Given the description of an element on the screen output the (x, y) to click on. 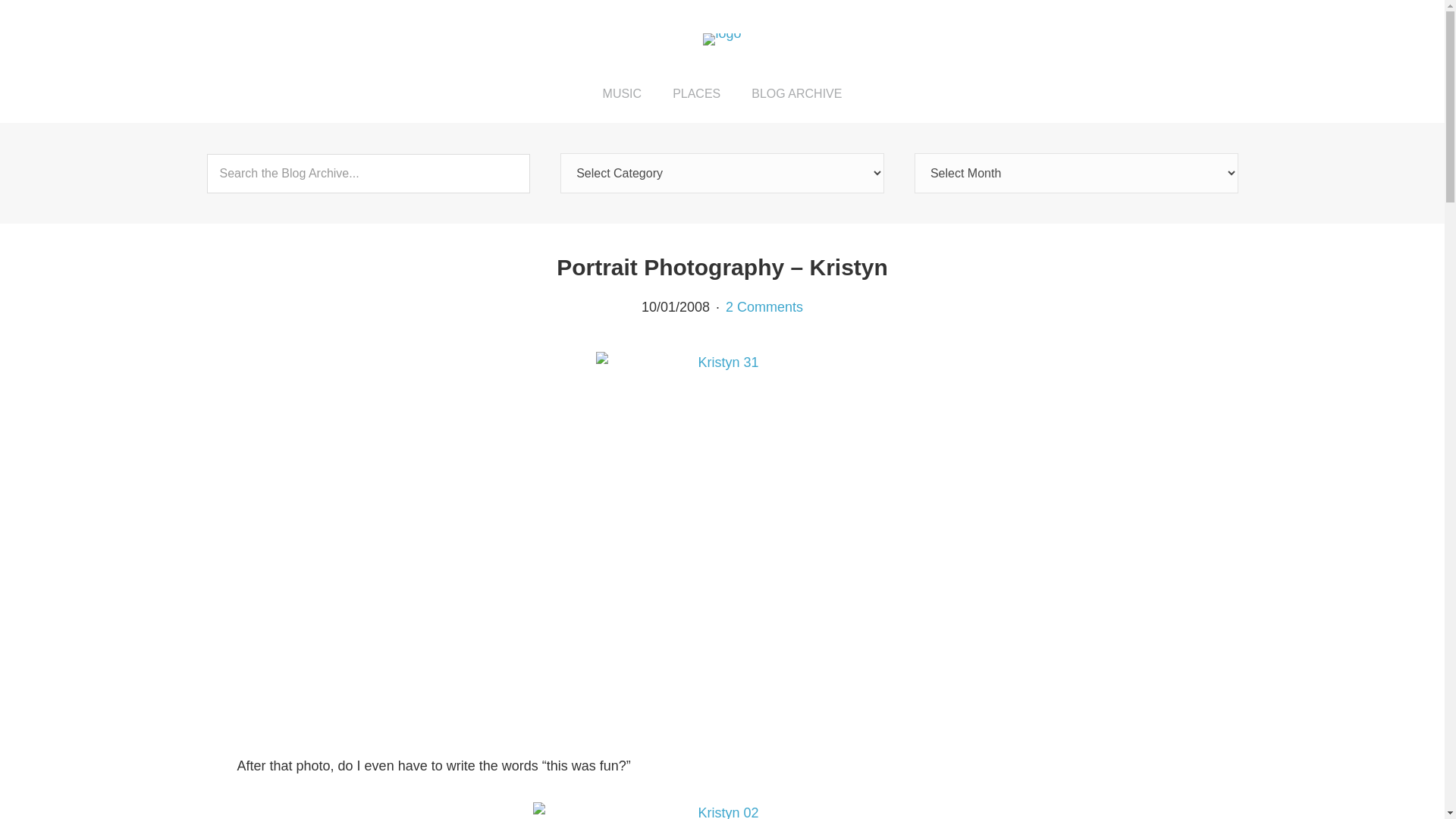
MUSIC (623, 93)
Kristyn 31 by kudoskid0511, on Flickr (721, 362)
BLOG ARCHIVE (796, 93)
logo (722, 39)
Kristyn 02 by kudoskid0511, on Flickr (721, 812)
2 Comments (764, 306)
PLACES (696, 93)
